Given the description of an element on the screen output the (x, y) to click on. 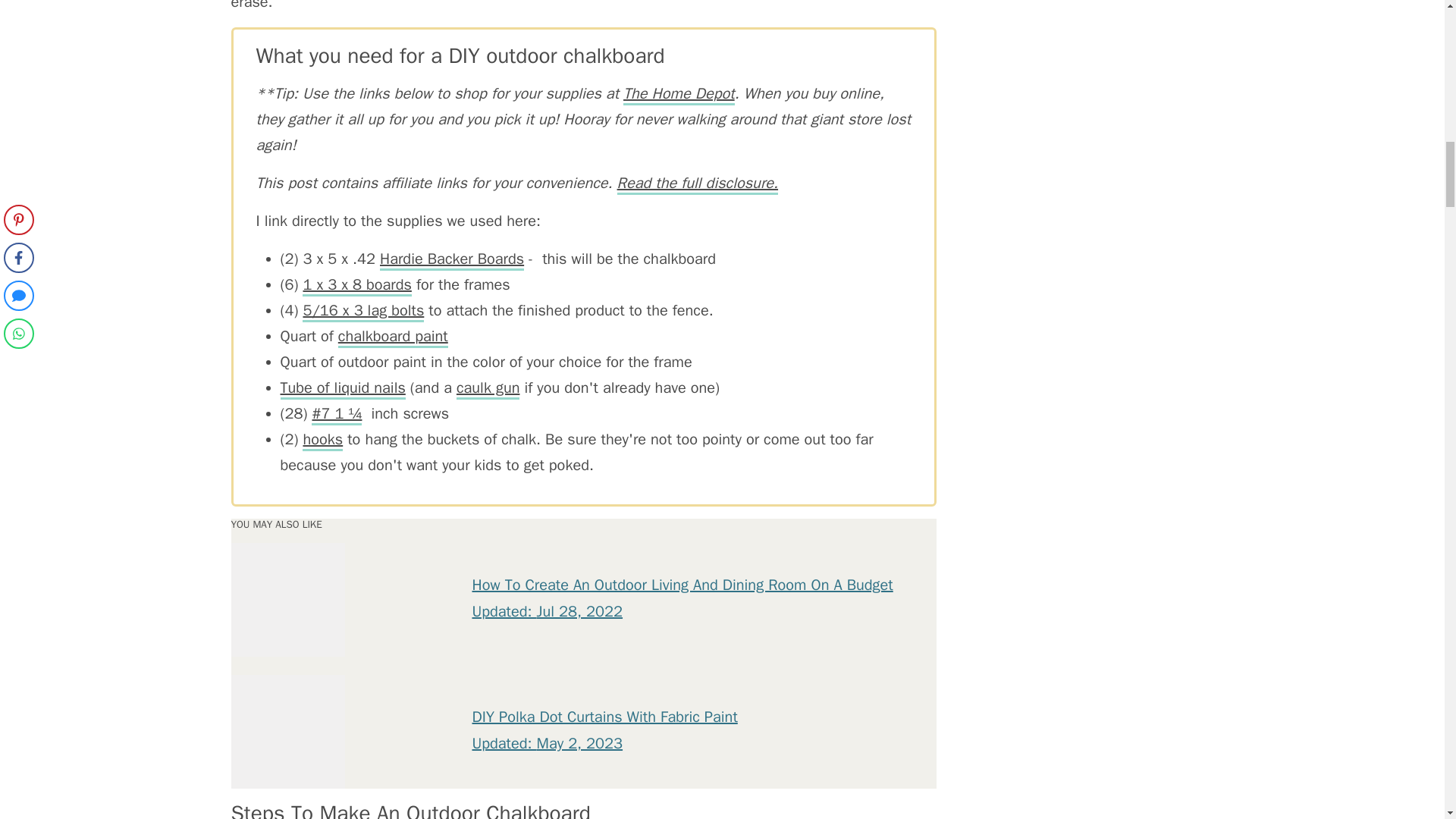
The Home Depot (679, 94)
Read the full disclosure. (697, 183)
